Given the description of an element on the screen output the (x, y) to click on. 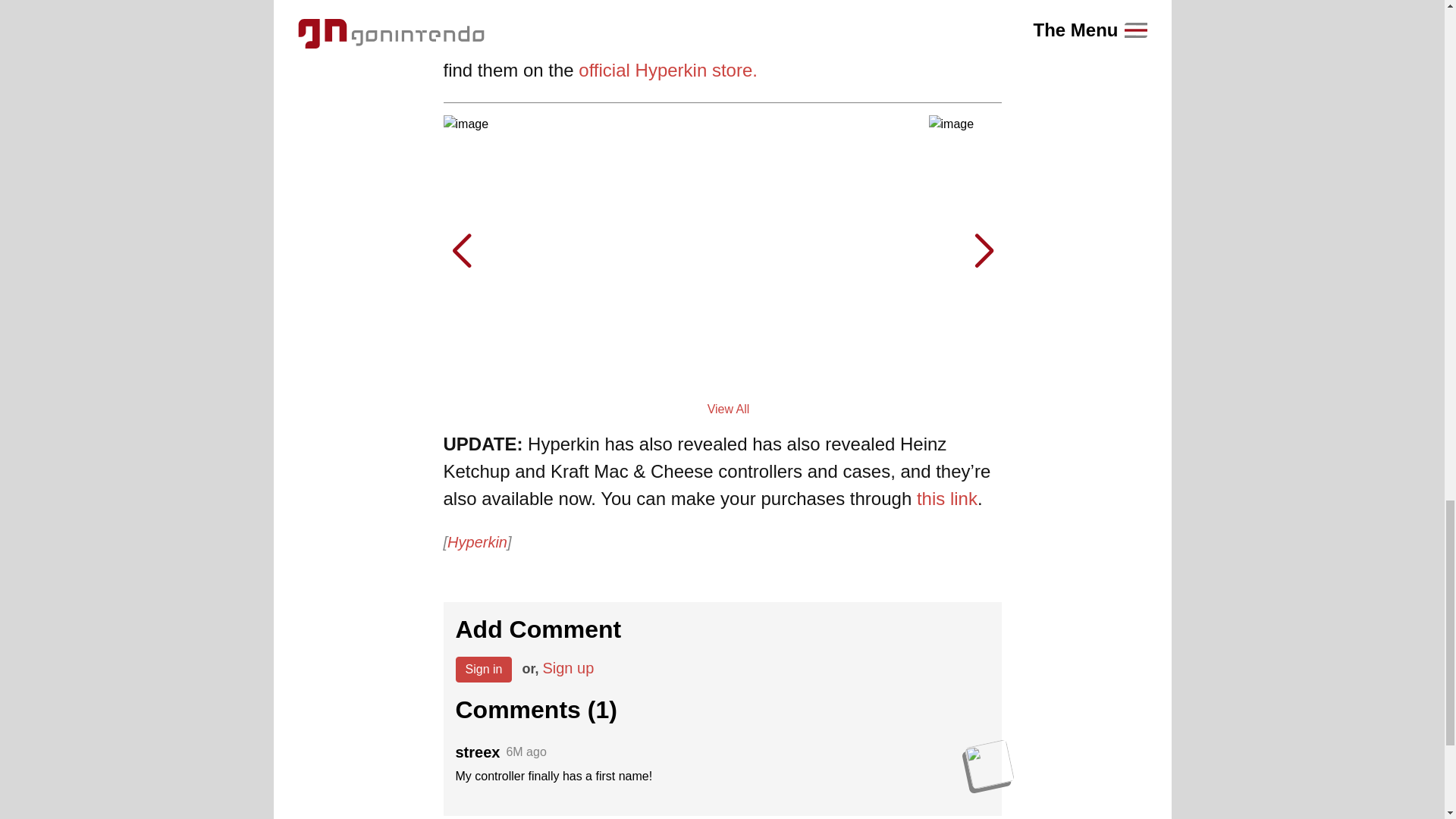
2024-01-30 12:37 AM (525, 751)
